Given the description of an element on the screen output the (x, y) to click on. 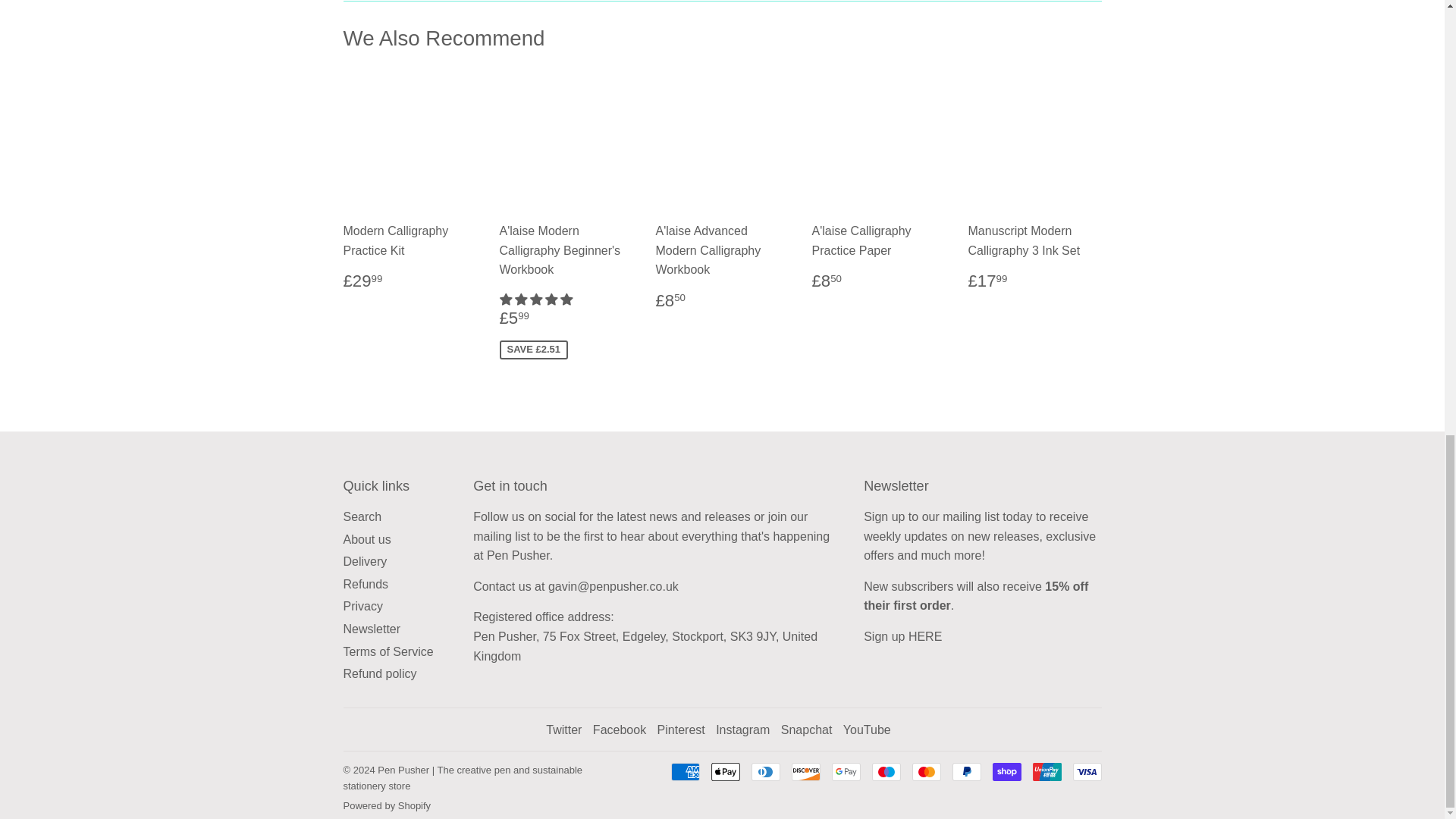
American Express (683, 771)
Visa (1085, 771)
PayPal (966, 771)
Union Pay (1046, 771)
Discover (806, 771)
Apple Pay (725, 771)
Shop Pay (1005, 771)
Mastercard (925, 771)
Maestro (886, 771)
Google Pay (845, 771)
